Given the description of an element on the screen output the (x, y) to click on. 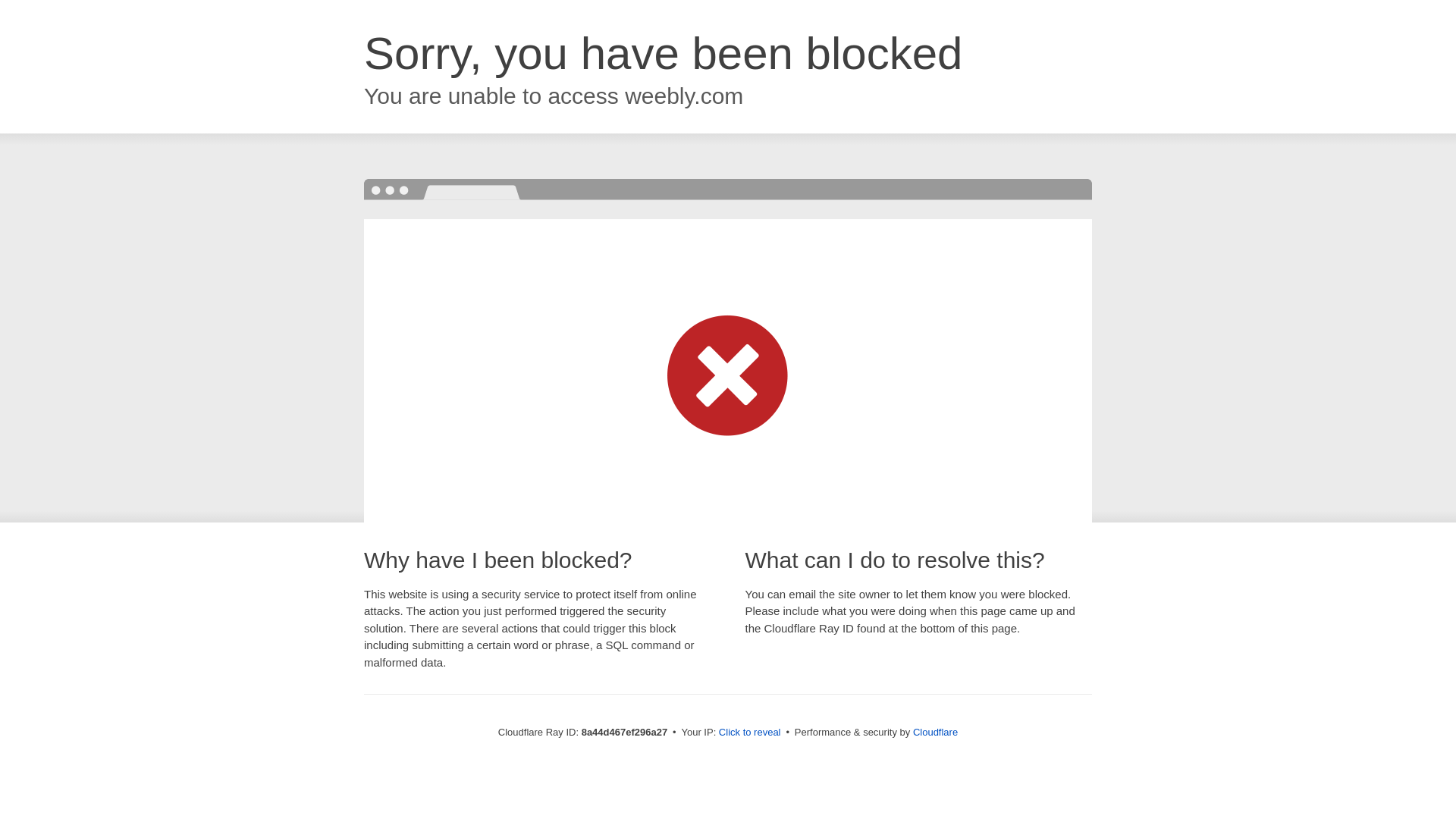
Click to reveal (749, 732)
Cloudflare (935, 731)
